Given the description of an element on the screen output the (x, y) to click on. 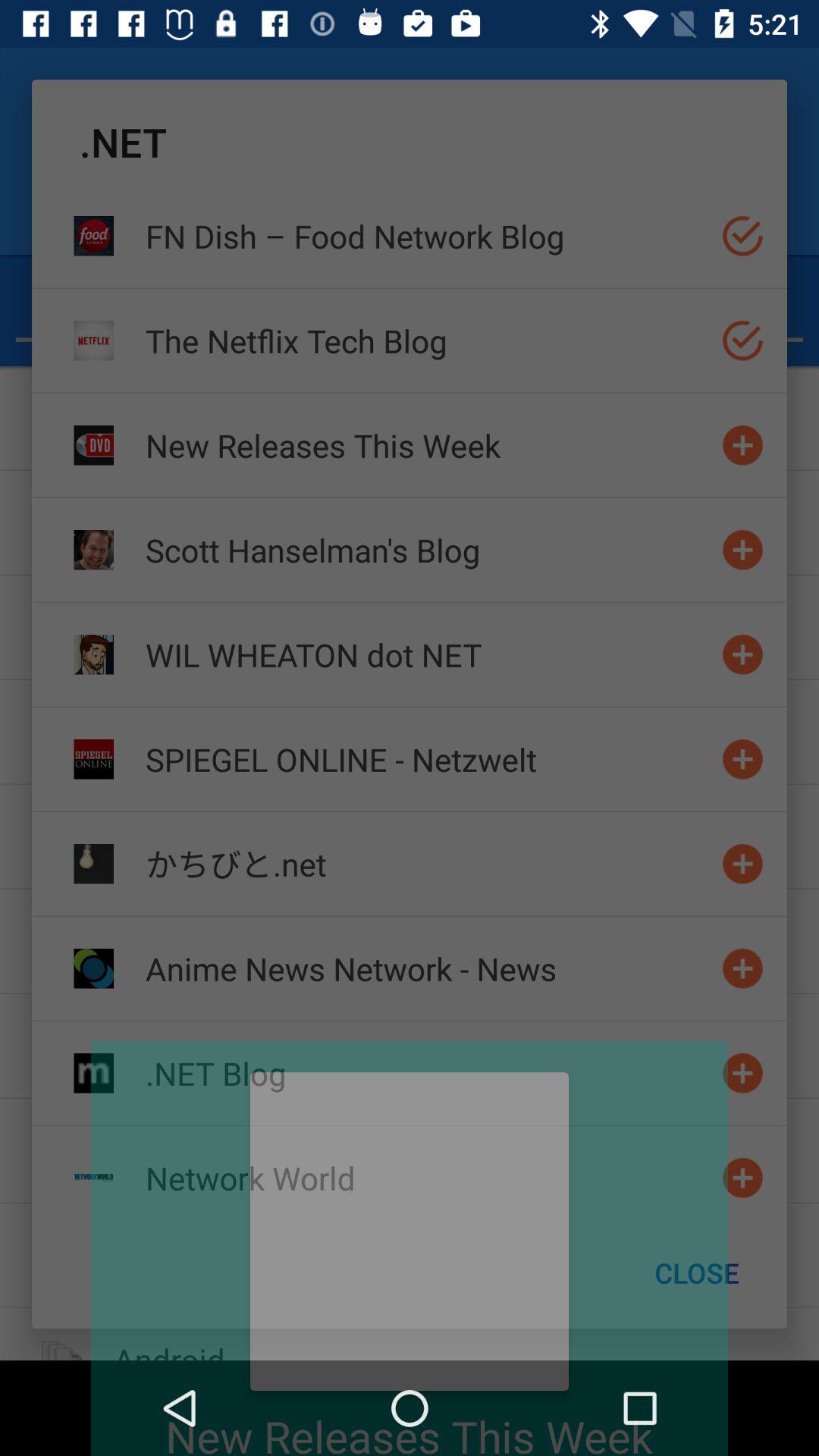
add bookmark (742, 1177)
